Given the description of an element on the screen output the (x, y) to click on. 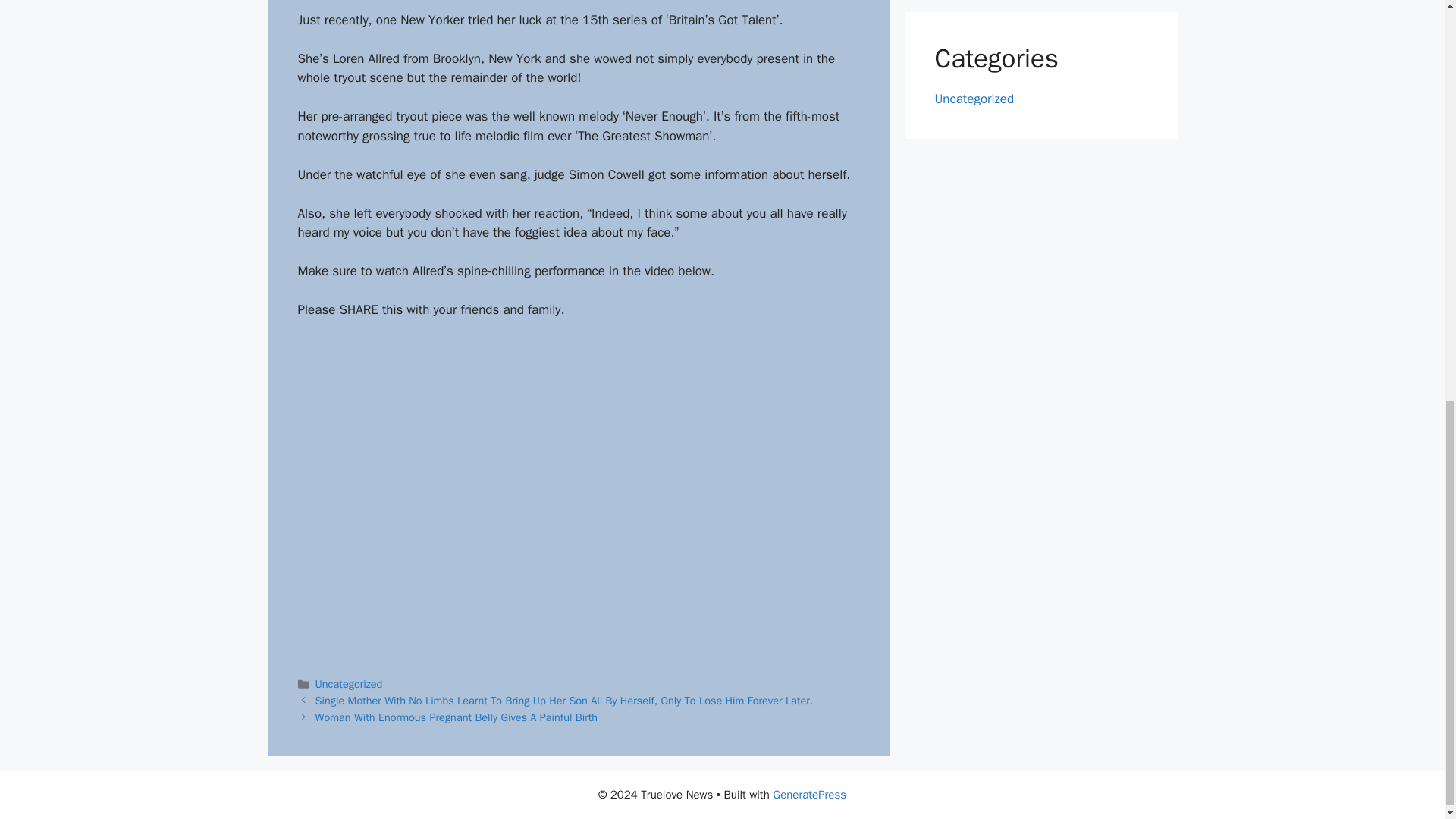
Uncategorized (348, 684)
Woman With Enormous Pregnant Belly Gives A Painful Birth (456, 716)
GeneratePress (809, 794)
Uncategorized (973, 98)
